Given the description of an element on the screen output the (x, y) to click on. 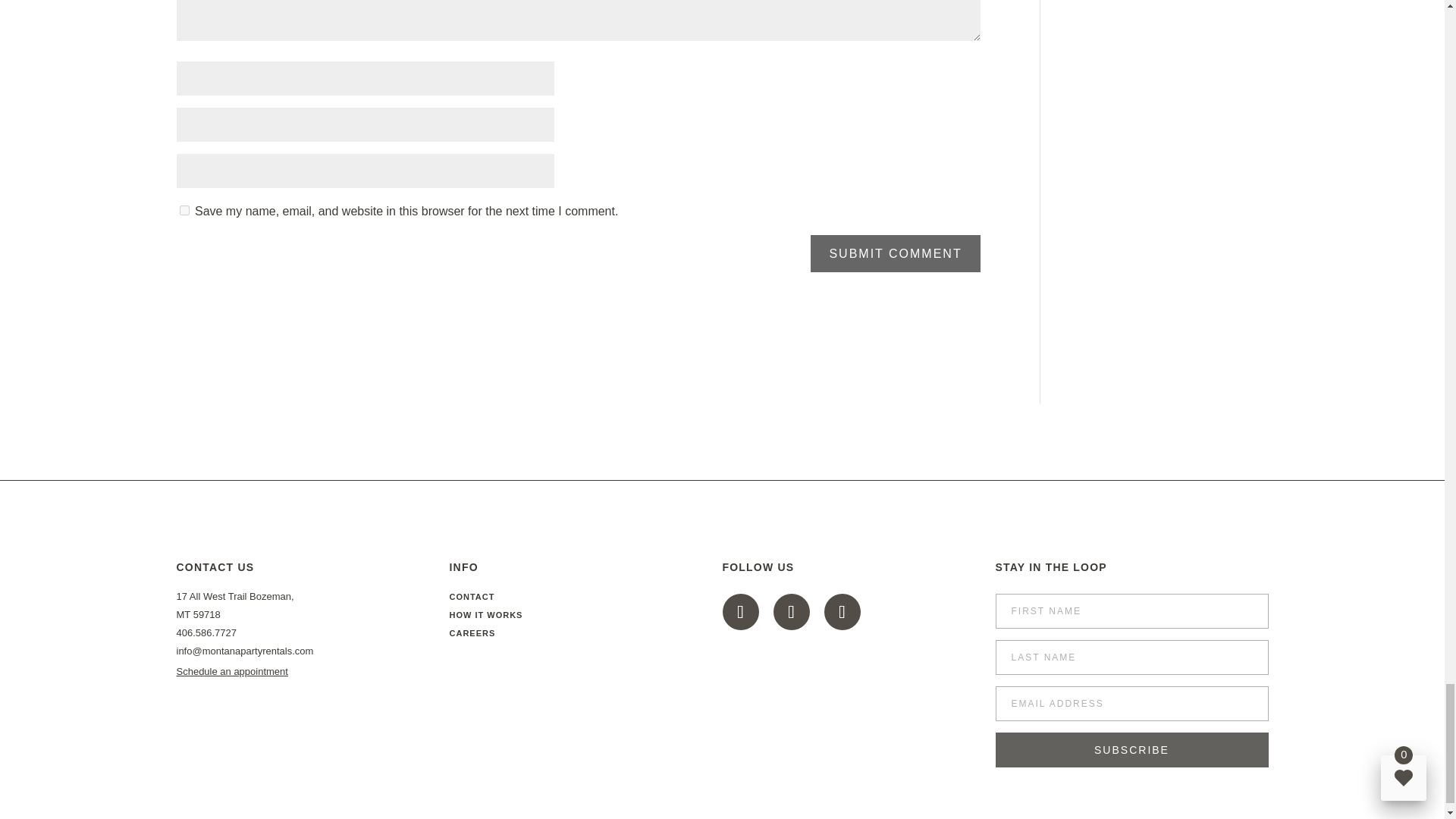
Follow on Instagram (842, 611)
Follow on Facebook (740, 611)
Follow on Pinterest (791, 611)
Submit Comment (894, 253)
yes (184, 210)
Submit Comment (894, 253)
